Given the description of an element on the screen output the (x, y) to click on. 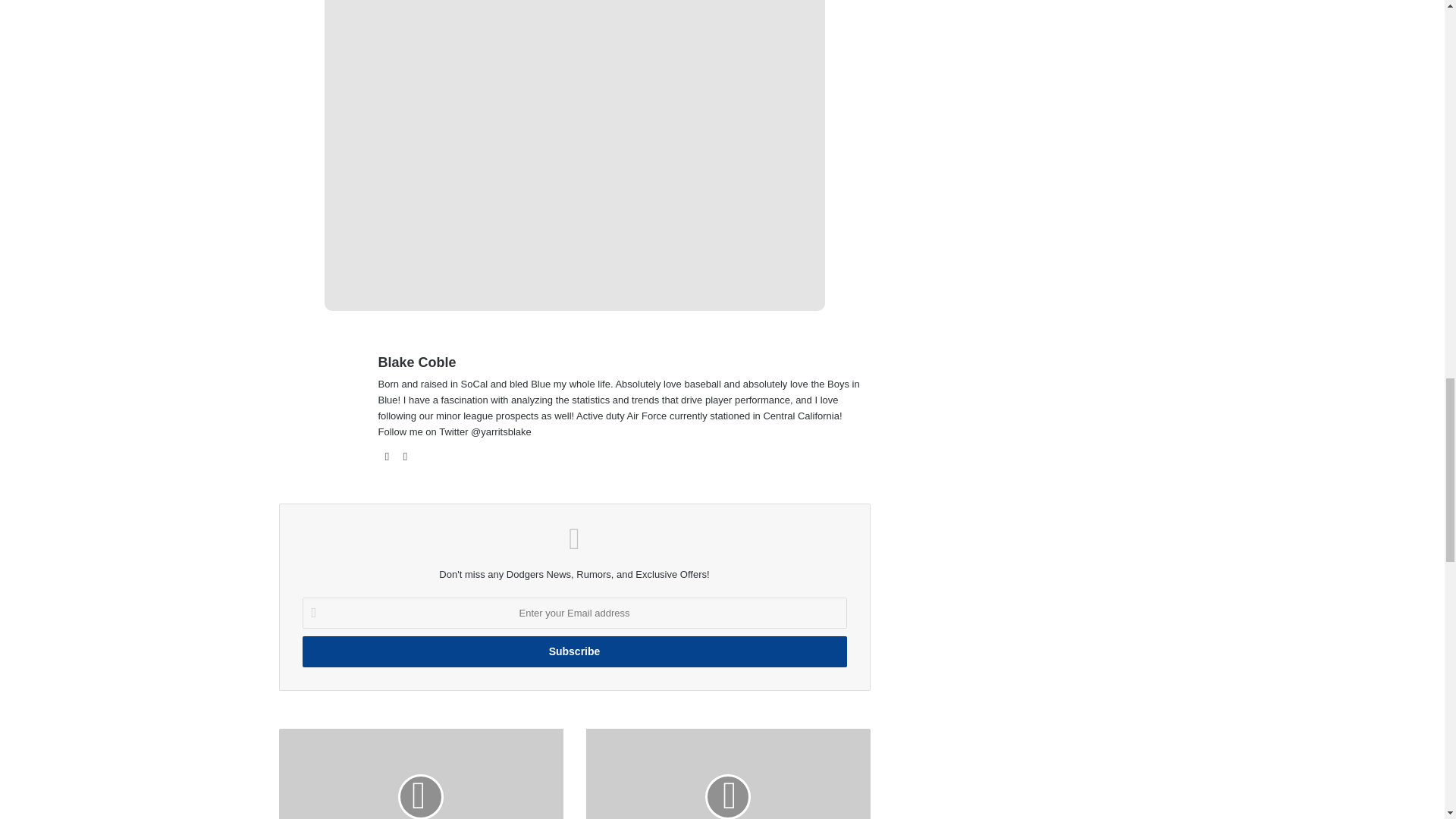
Subscribe (573, 651)
